Given the description of an element on the screen output the (x, y) to click on. 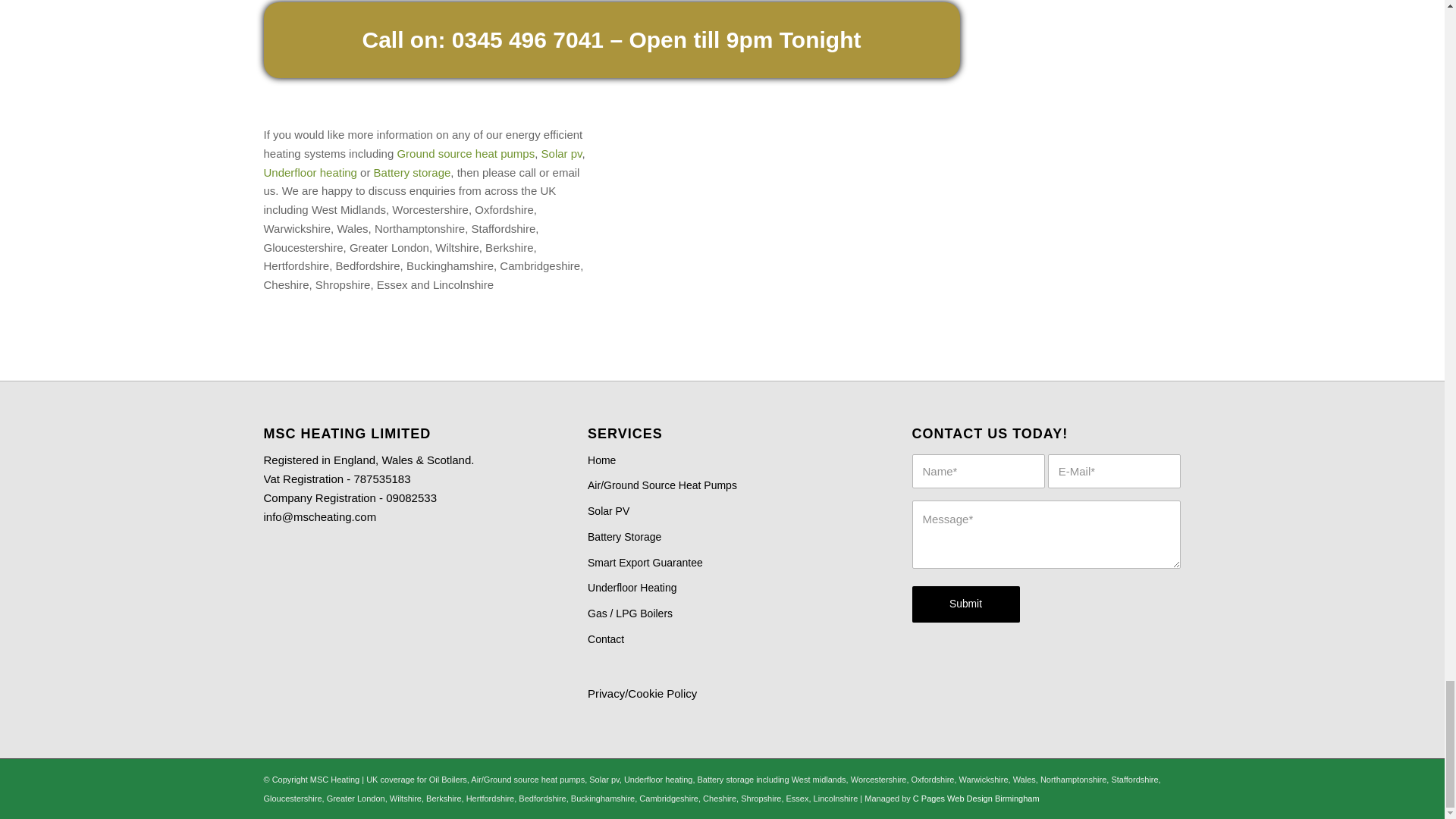
Submit (966, 604)
Underfloor heating (309, 172)
Battery storage (412, 172)
Ground source heat pumps (465, 153)
Solar pv (561, 153)
